Given the description of an element on the screen output the (x, y) to click on. 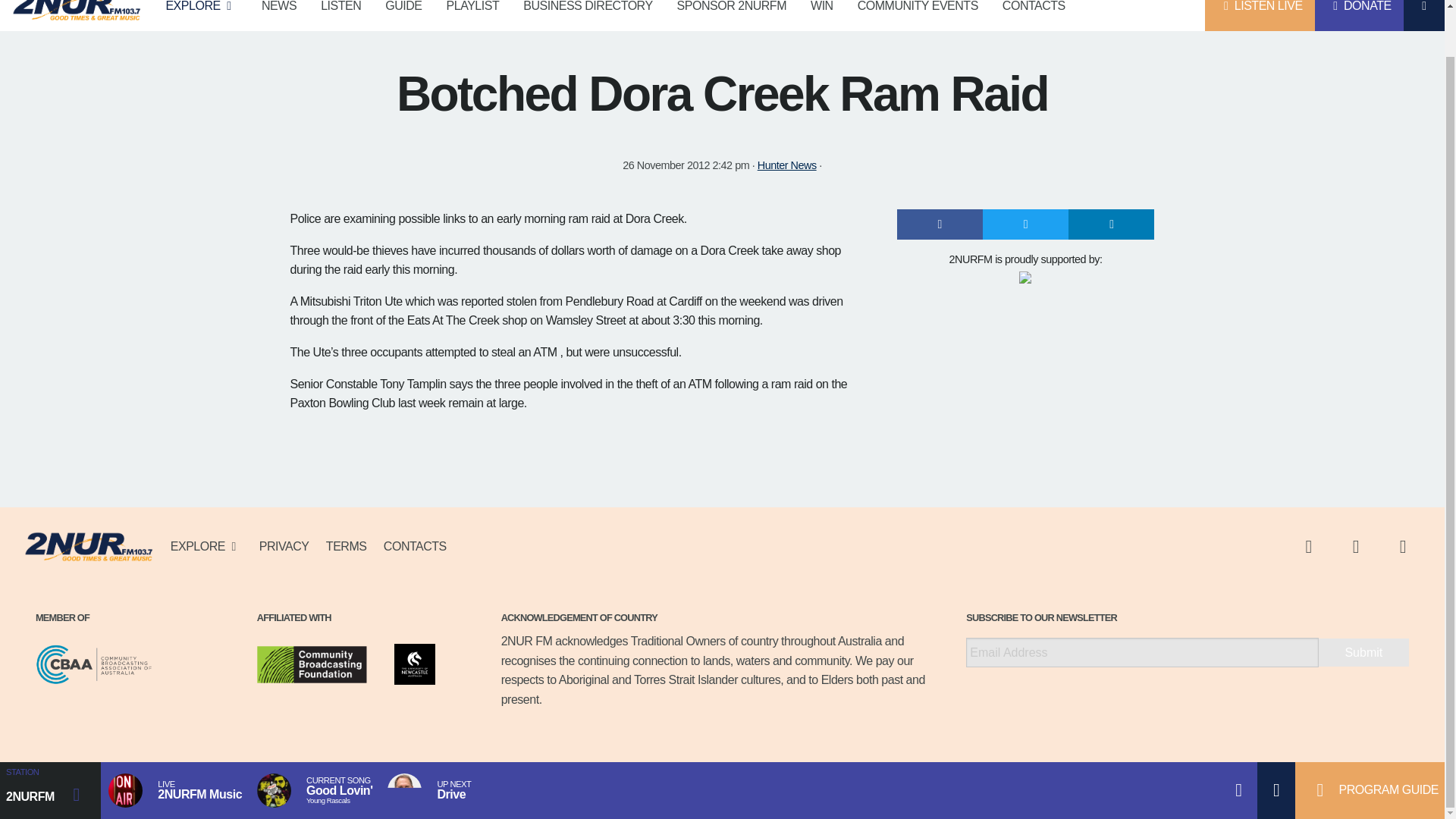
DONATE (1358, 15)
EXPLORE (200, 15)
BUSINESS DIRECTORY (587, 15)
LISTEN (340, 15)
LISTEN LIVE (1259, 15)
Submit (1364, 652)
NEWS (278, 15)
CONTACTS (1033, 15)
SPONSOR 2NURFM (731, 15)
GUIDE (402, 15)
WIN (821, 15)
COMMUNITY EVENTS (917, 15)
PLAYLIST (472, 15)
